Given the description of an element on the screen output the (x, y) to click on. 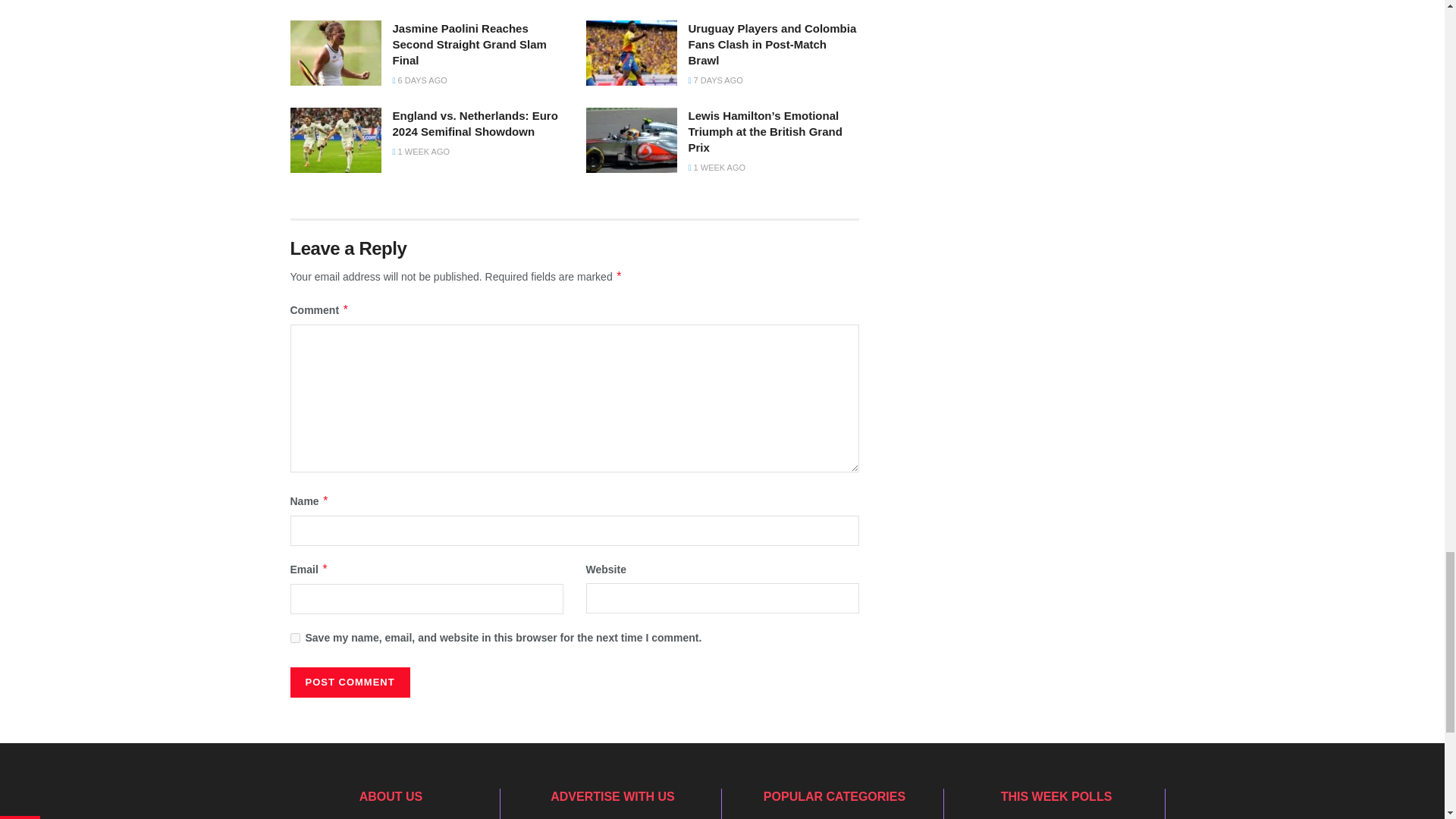
yes (294, 637)
Post Comment (349, 682)
